Given the description of an element on the screen output the (x, y) to click on. 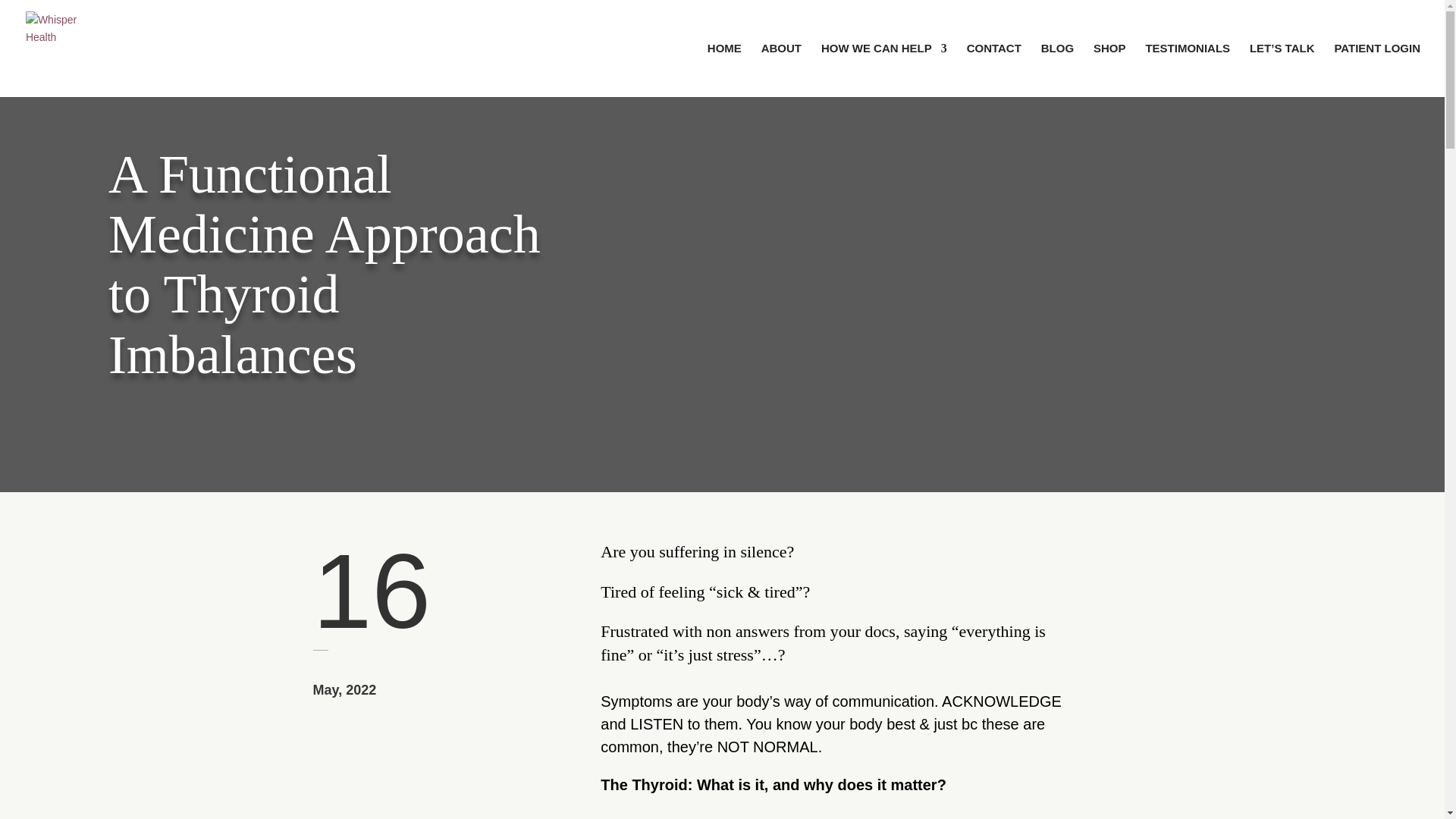
ABOUT (781, 70)
HOW WE CAN HELP (884, 70)
HOME (724, 70)
BLOG (1057, 70)
TESTIMONIALS (1187, 70)
CONTACT (994, 70)
PATIENT LOGIN (1377, 70)
SHOP (1109, 70)
